Given the description of an element on the screen output the (x, y) to click on. 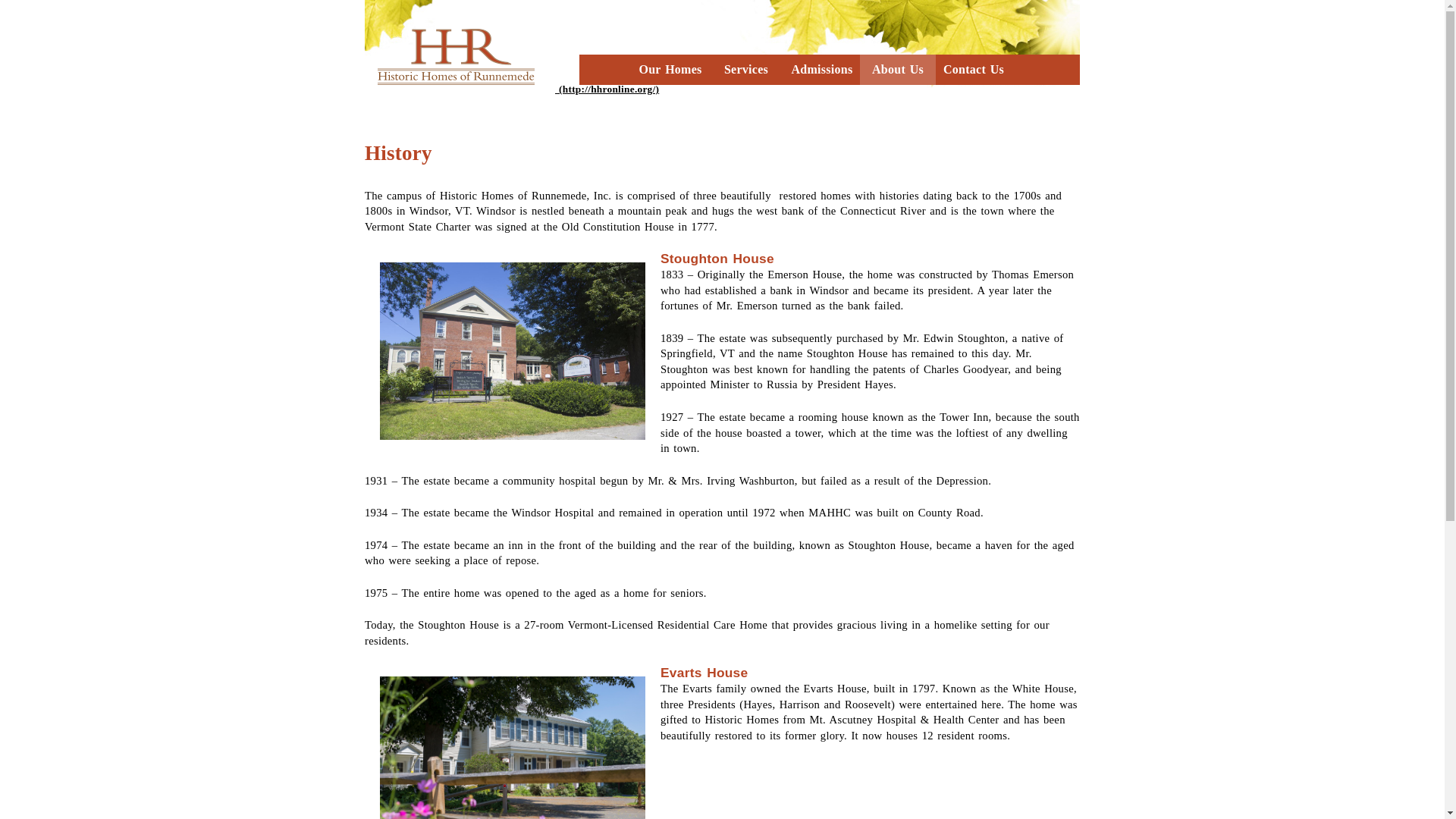
Services (745, 69)
About Us (898, 69)
Contact Us (973, 69)
Admissions (822, 69)
Home page (512, 88)
Our Homes (669, 69)
